Given the description of an element on the screen output the (x, y) to click on. 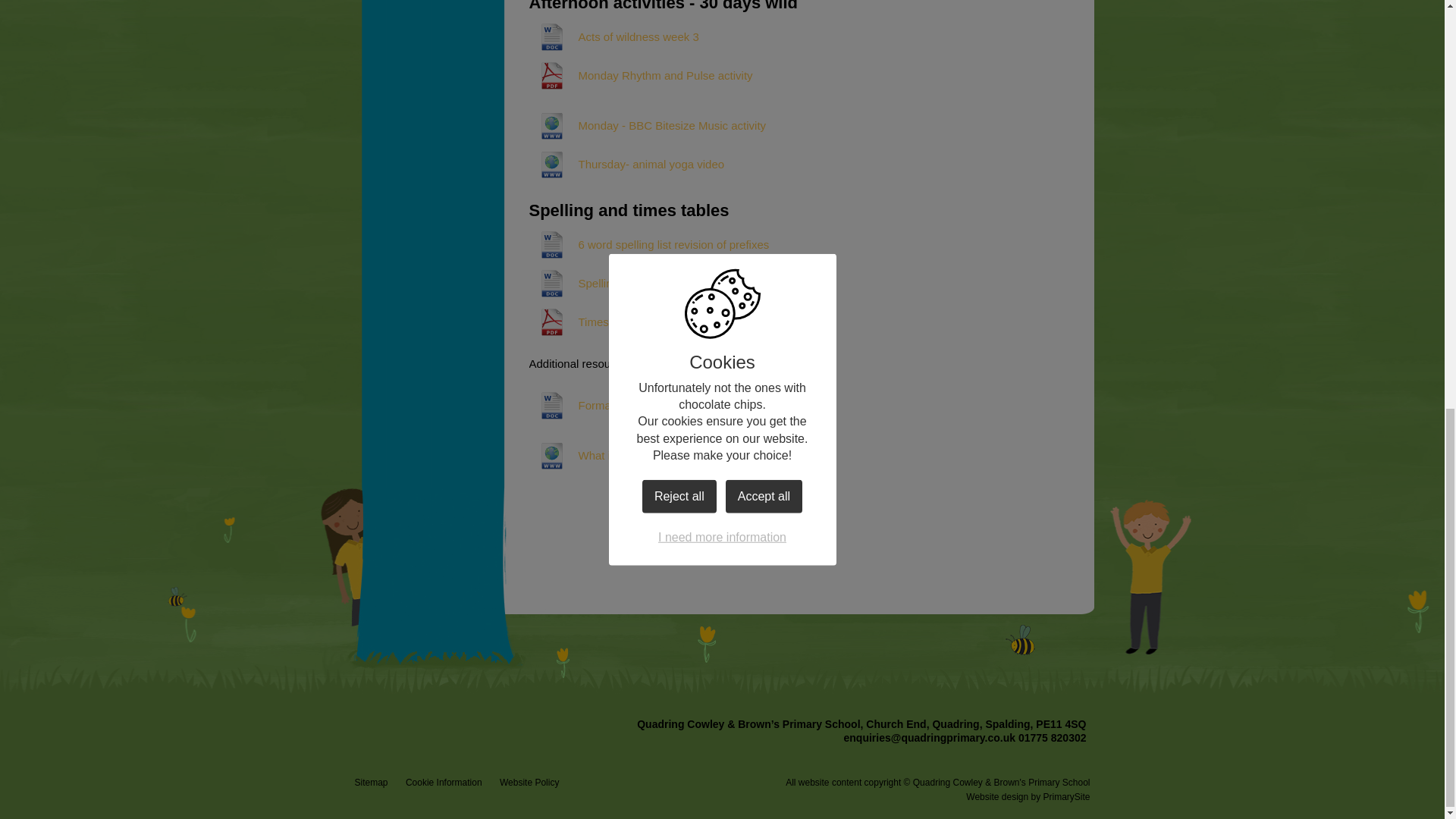
6 word spelling list revision of prefixes (649, 244)
What is a balanced argument (627, 455)
Monday - BBC Bitesize Music activity (648, 125)
Monday Rhythm and Pulse activity (640, 75)
Formal letter planning sheet (624, 405)
Times table practice (604, 321)
Acts of wildness week 3 (613, 36)
Thursday- animal yoga video (627, 164)
Spelling practise revision of prefixes (644, 283)
